Given the description of an element on the screen output the (x, y) to click on. 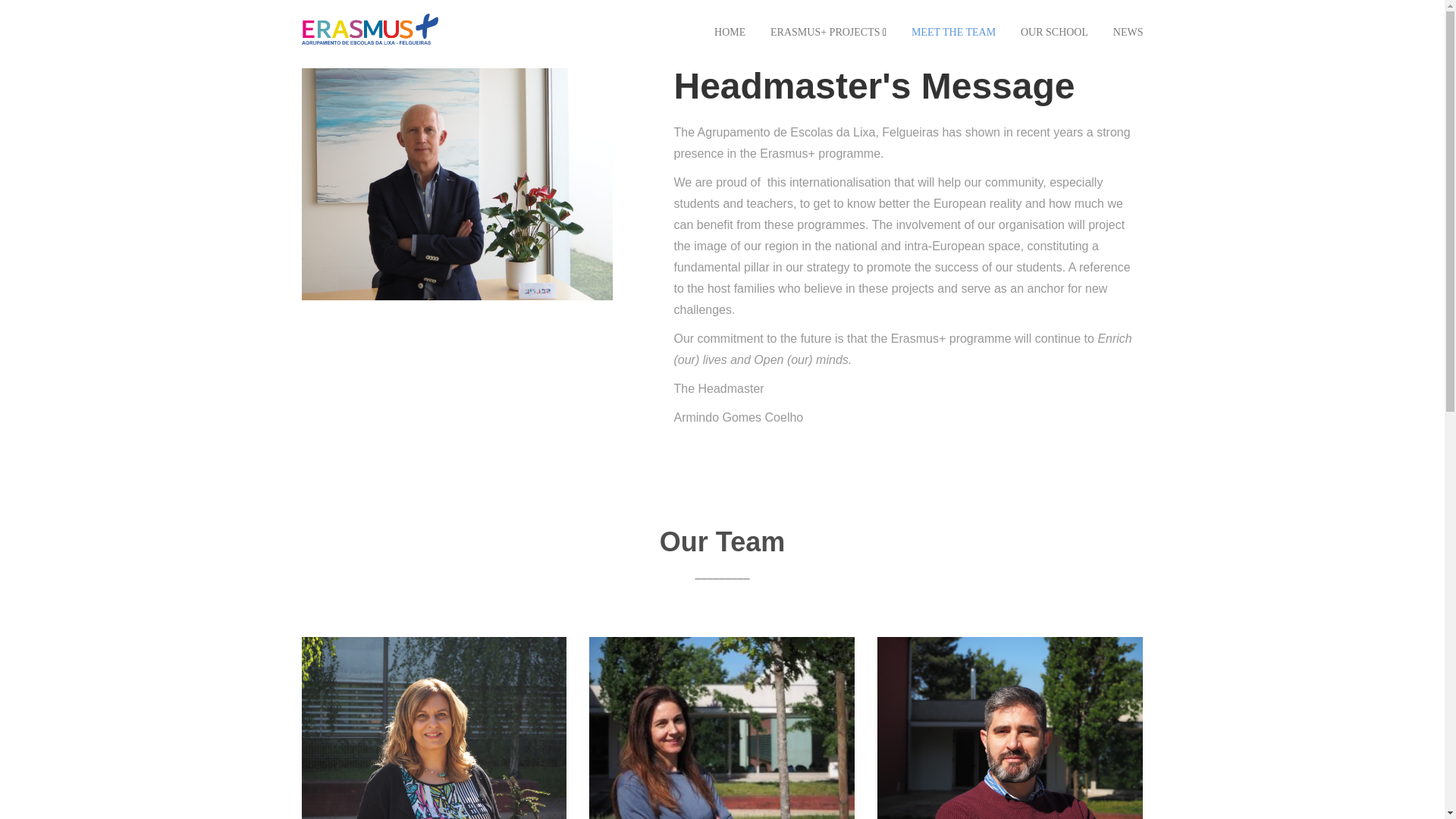
OUR SCHOOL (1053, 32)
MEET THE TEAM (953, 32)
Logo (369, 29)
